Given the description of an element on the screen output the (x, y) to click on. 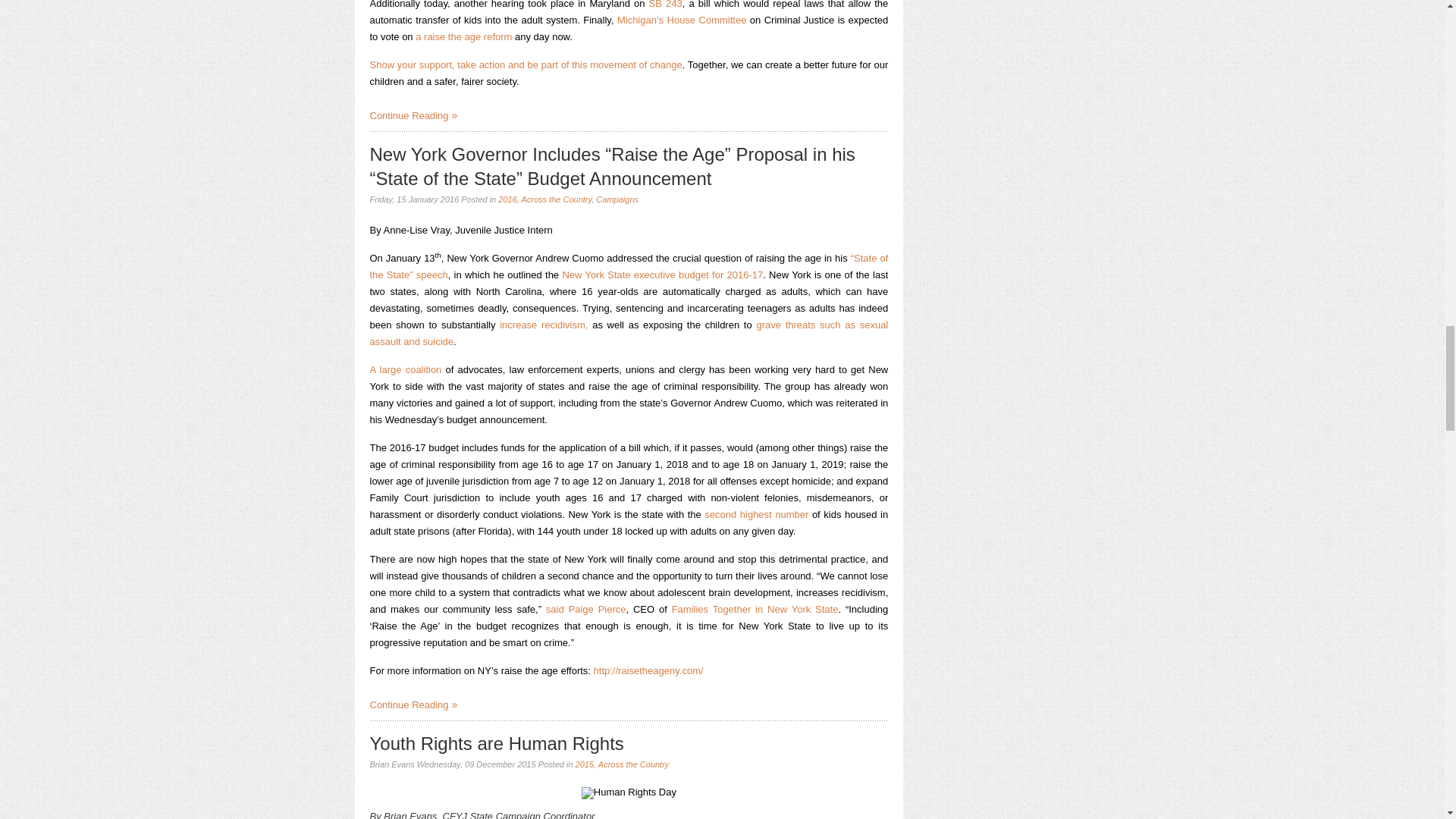
Youth Rights are Human Rights (496, 743)
